Given the description of an element on the screen output the (x, y) to click on. 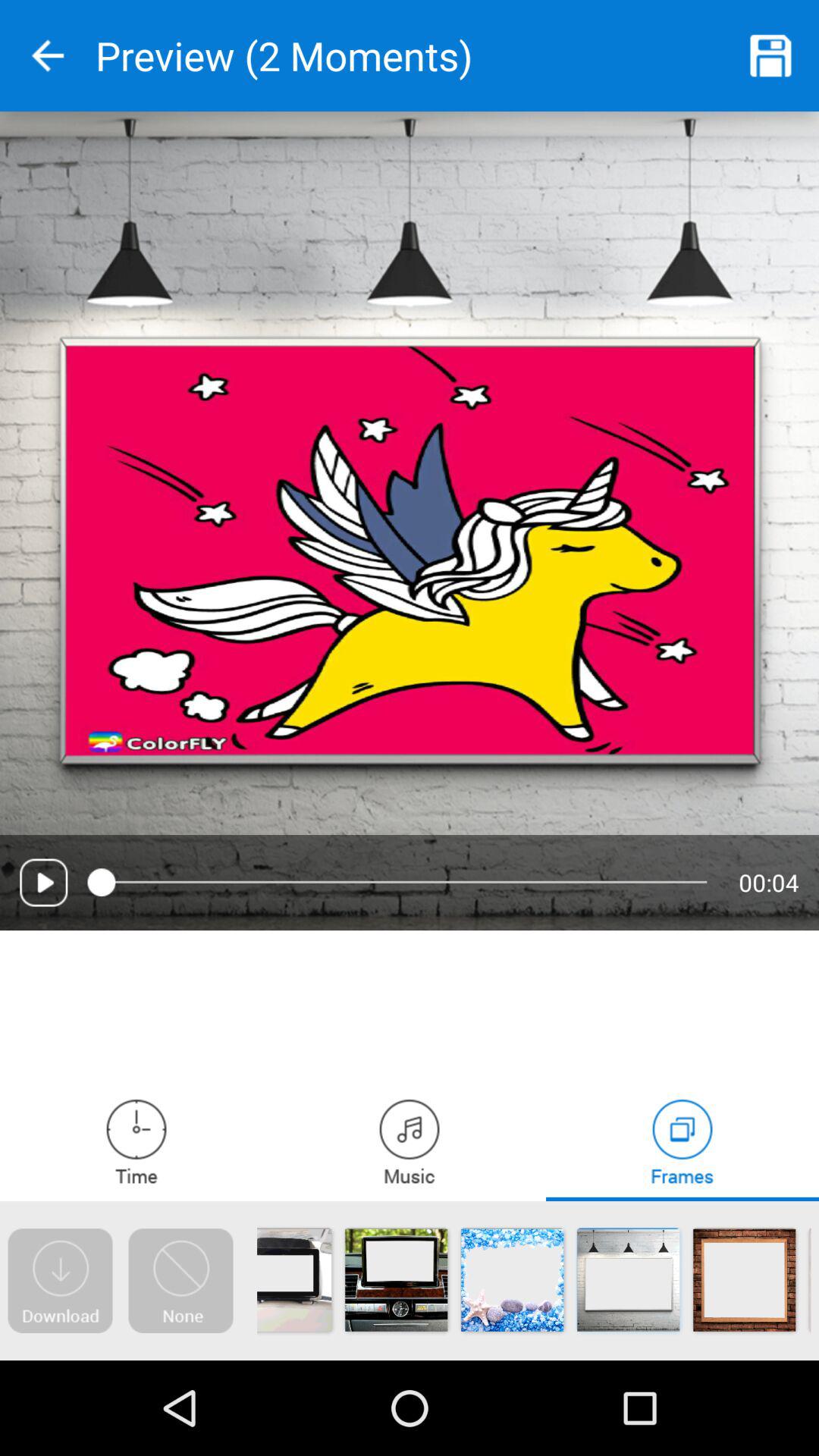
play video (43, 882)
